Given the description of an element on the screen output the (x, y) to click on. 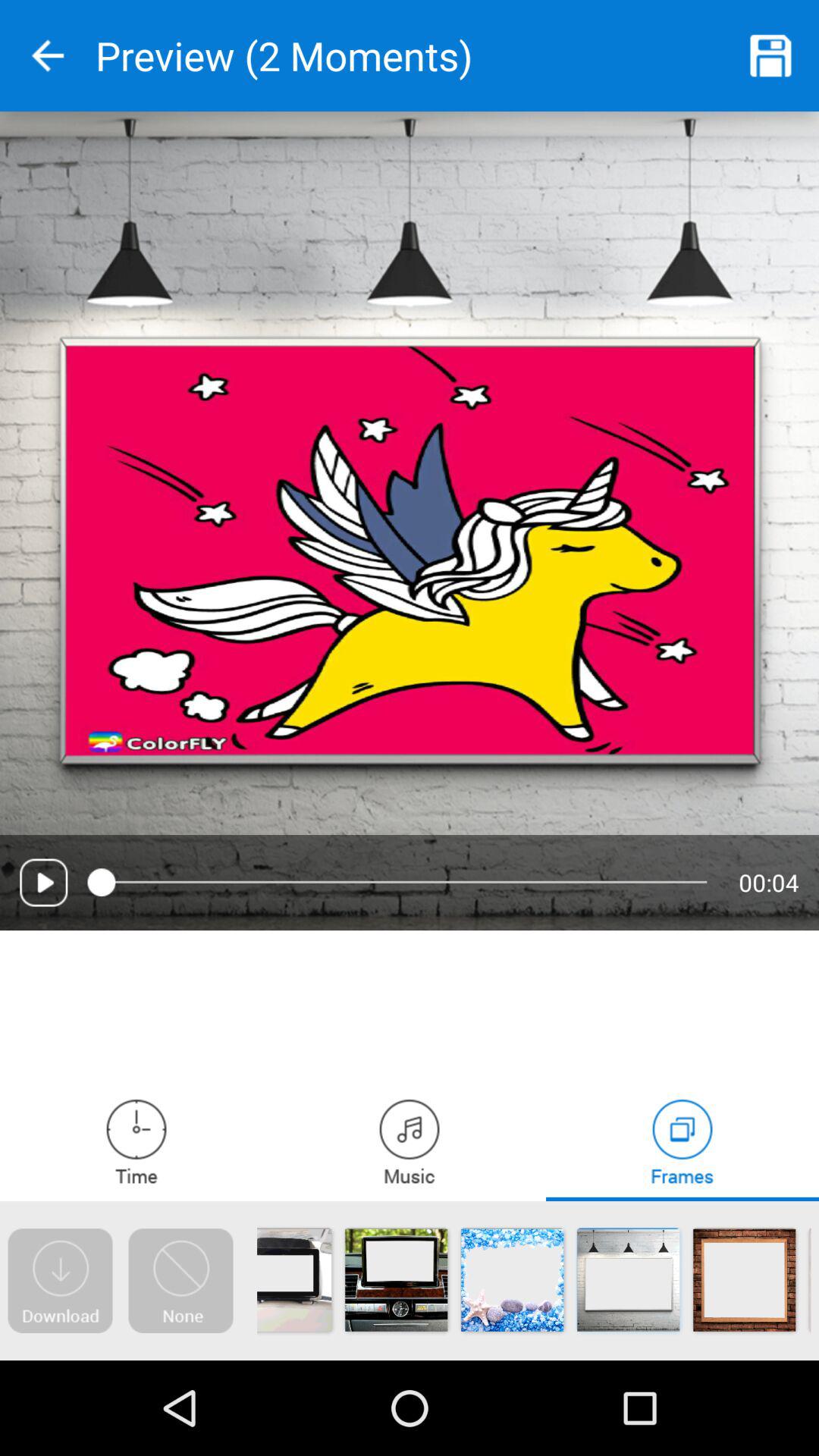
play video (43, 882)
